Given the description of an element on the screen output the (x, y) to click on. 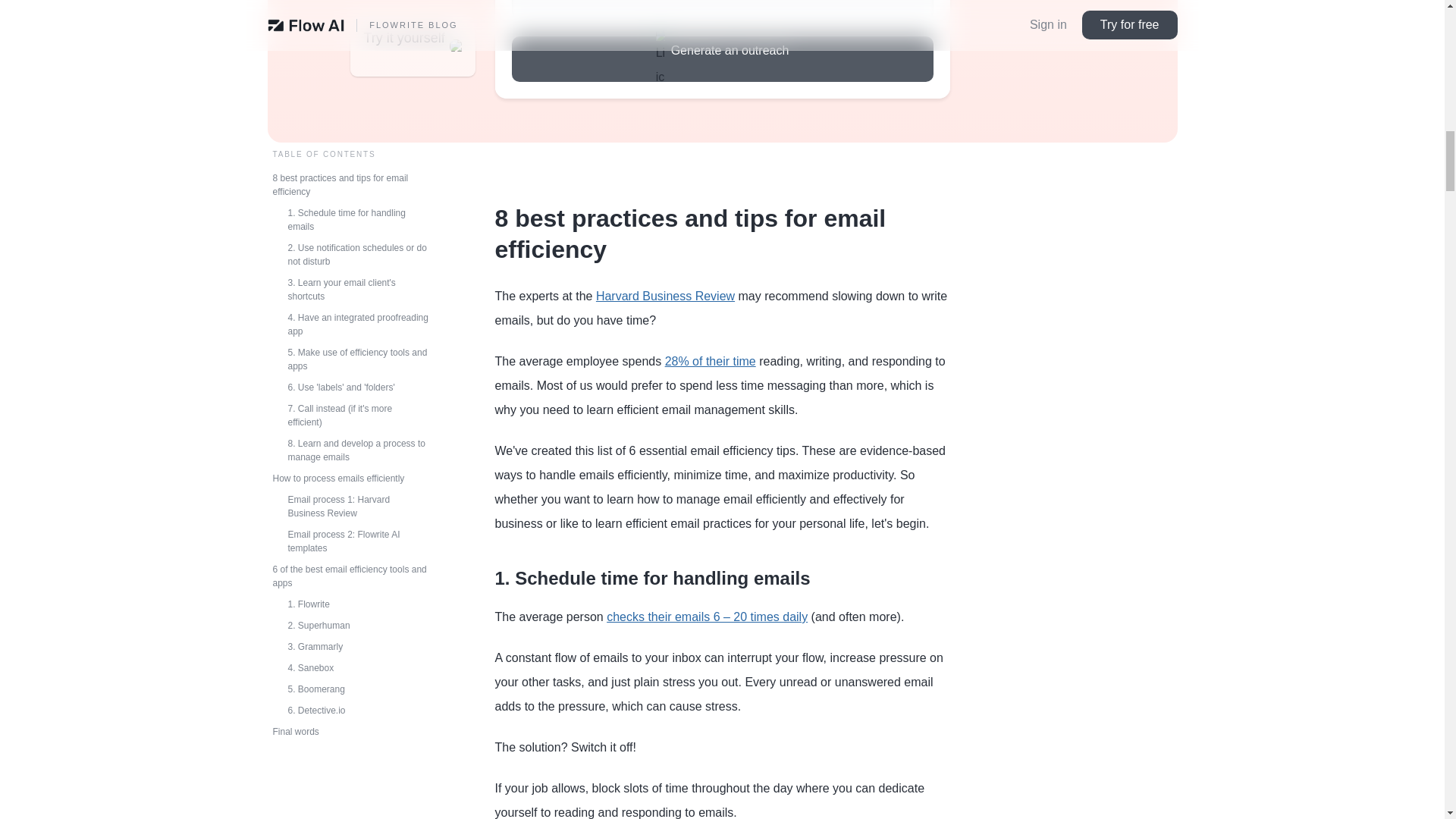
Harvard Business Review (665, 295)
